Given the description of an element on the screen output the (x, y) to click on. 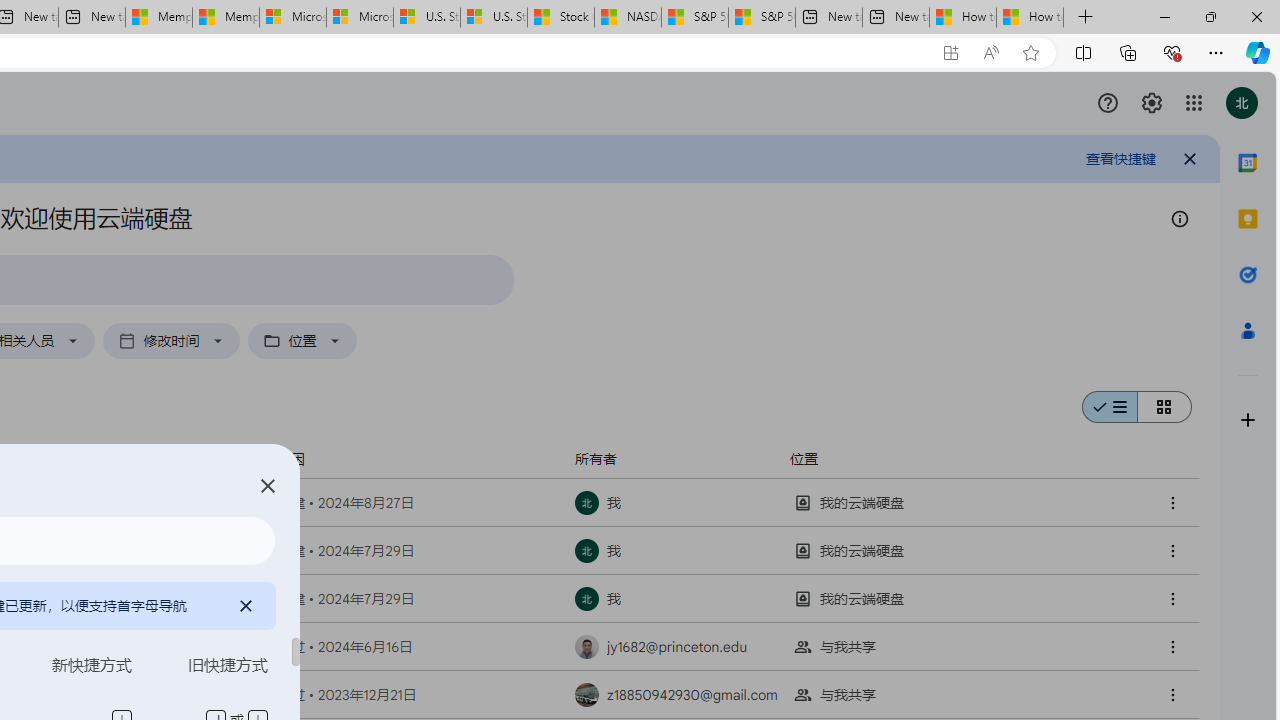
How to Use a Monitor With Your Closed Laptop (1030, 17)
S&P 500, Nasdaq end lower, weighed by Nvidia dip | Watch (761, 17)
